Given the description of an element on the screen output the (x, y) to click on. 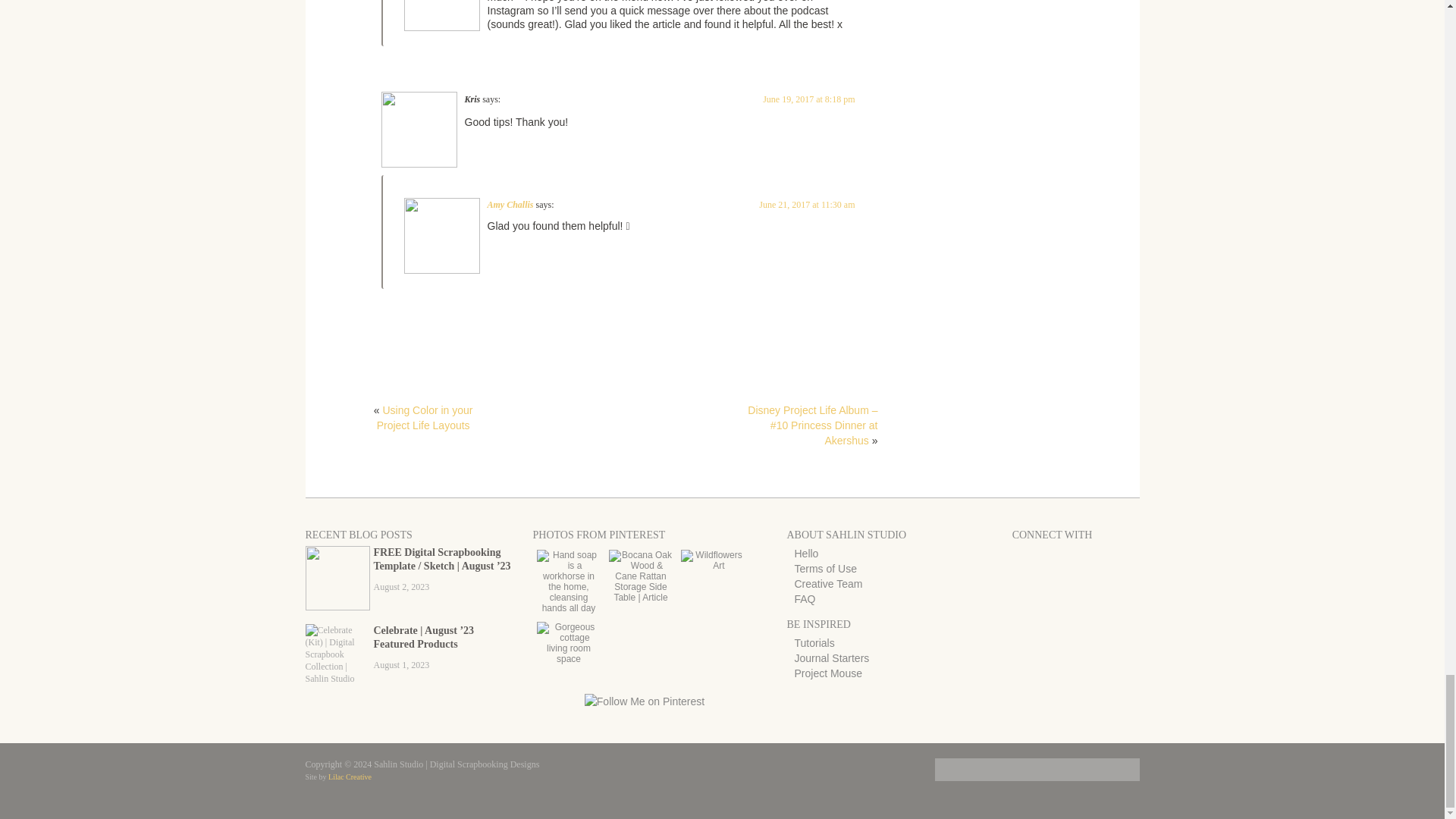
Follow Me on Pinterest (643, 701)
Gorgeous cottage living room space - Pinned on Apr 20, 2024 (569, 658)
Wildflowers Art - Pinned on Apr 20, 2024 (713, 565)
Search (1117, 773)
